Given the description of an element on the screen output the (x, y) to click on. 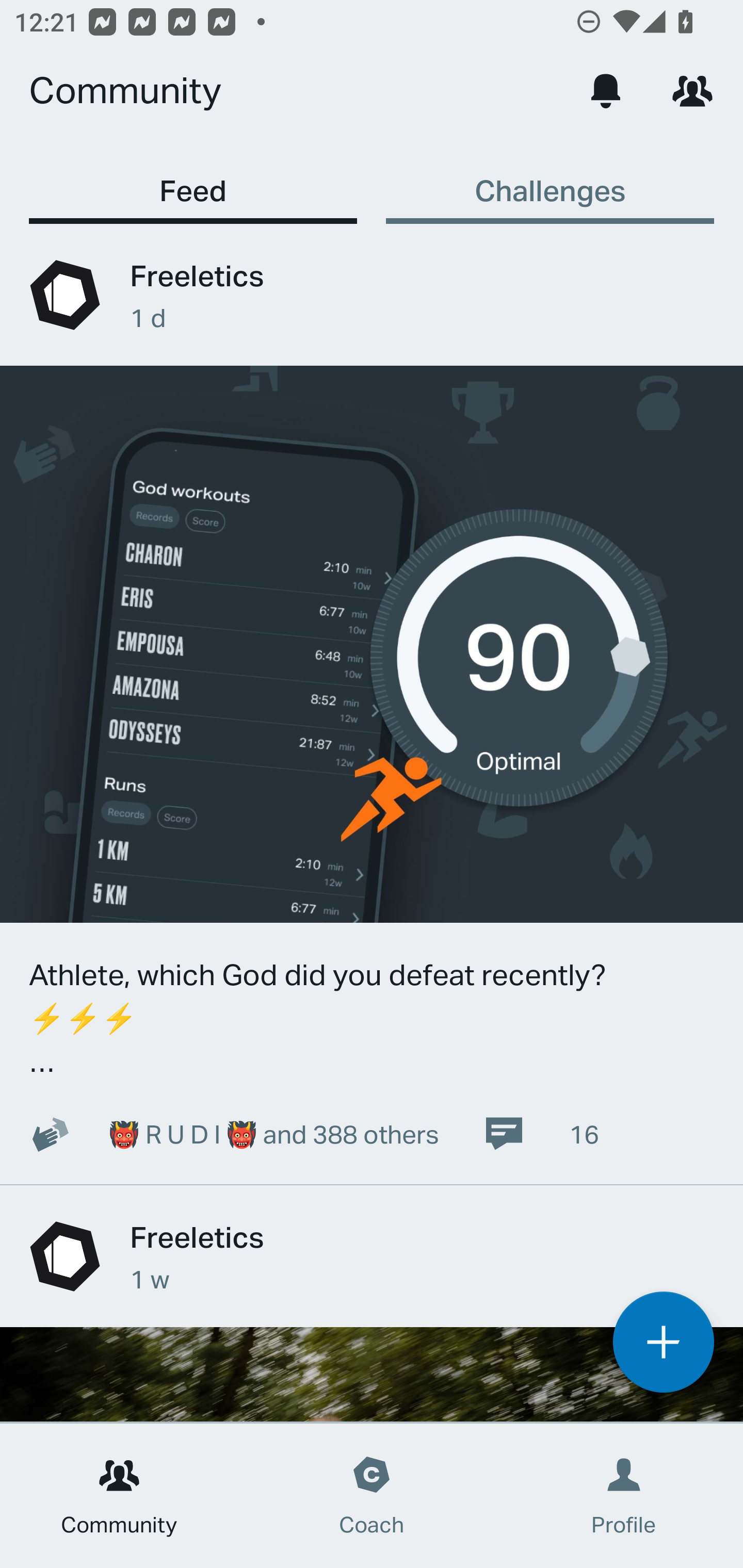
Notifications (605, 90)
Network (692, 90)
Feed (192, 180)
Challenges (549, 180)
👹 R U D I 👹 and 388 others (223, 1133)
16 (540, 1133)
Coach (371, 1495)
Profile (624, 1495)
